Given the description of an element on the screen output the (x, y) to click on. 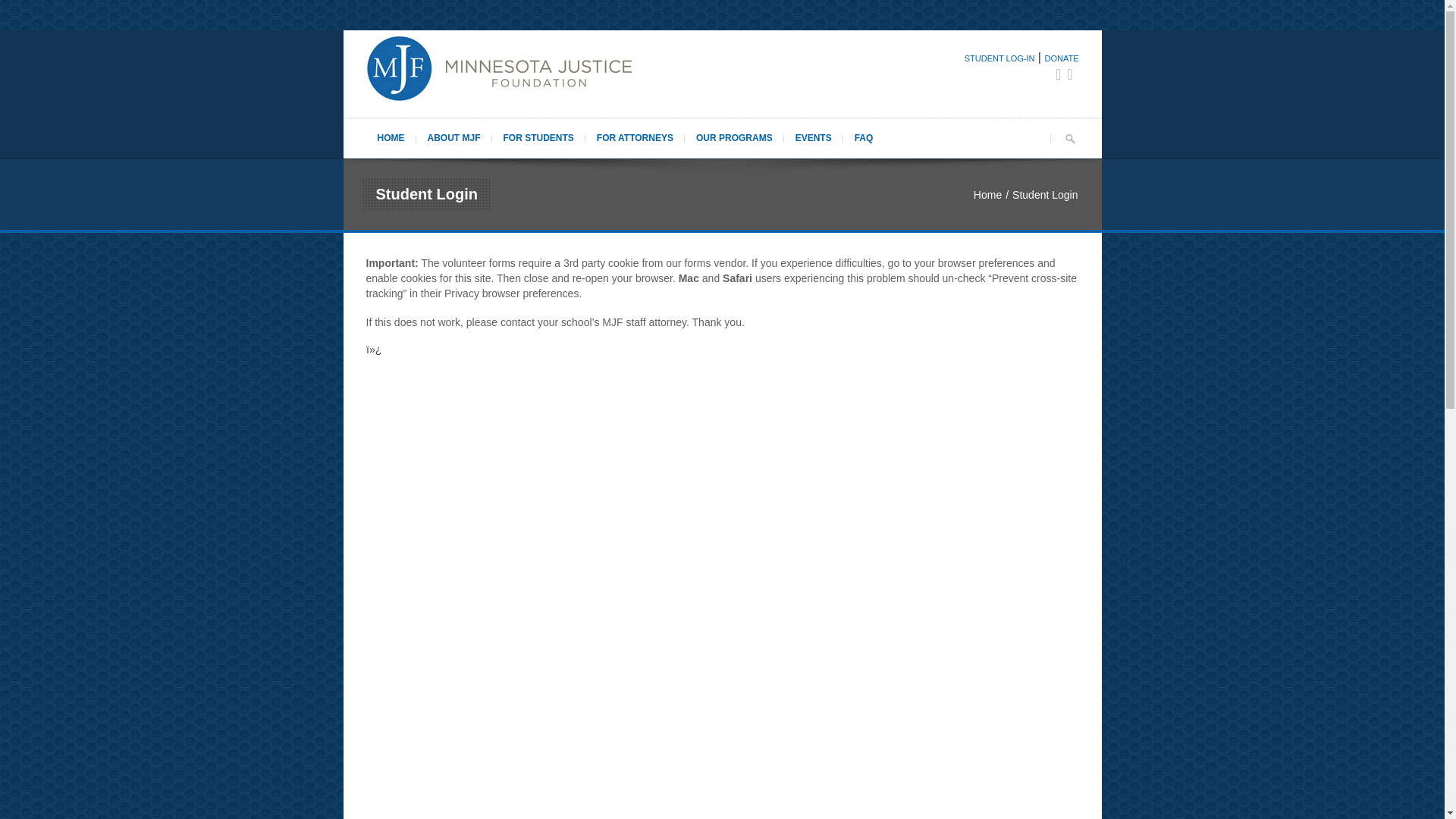
OUR PROGRAMS (734, 137)
ABOUT MJF (453, 137)
STUDENT LOG-IN (999, 58)
EVENTS (813, 137)
DONATE (1060, 58)
FOR STUDENTS (538, 137)
FOR ATTORNEYS (634, 137)
HOME (389, 137)
